Given the description of an element on the screen output the (x, y) to click on. 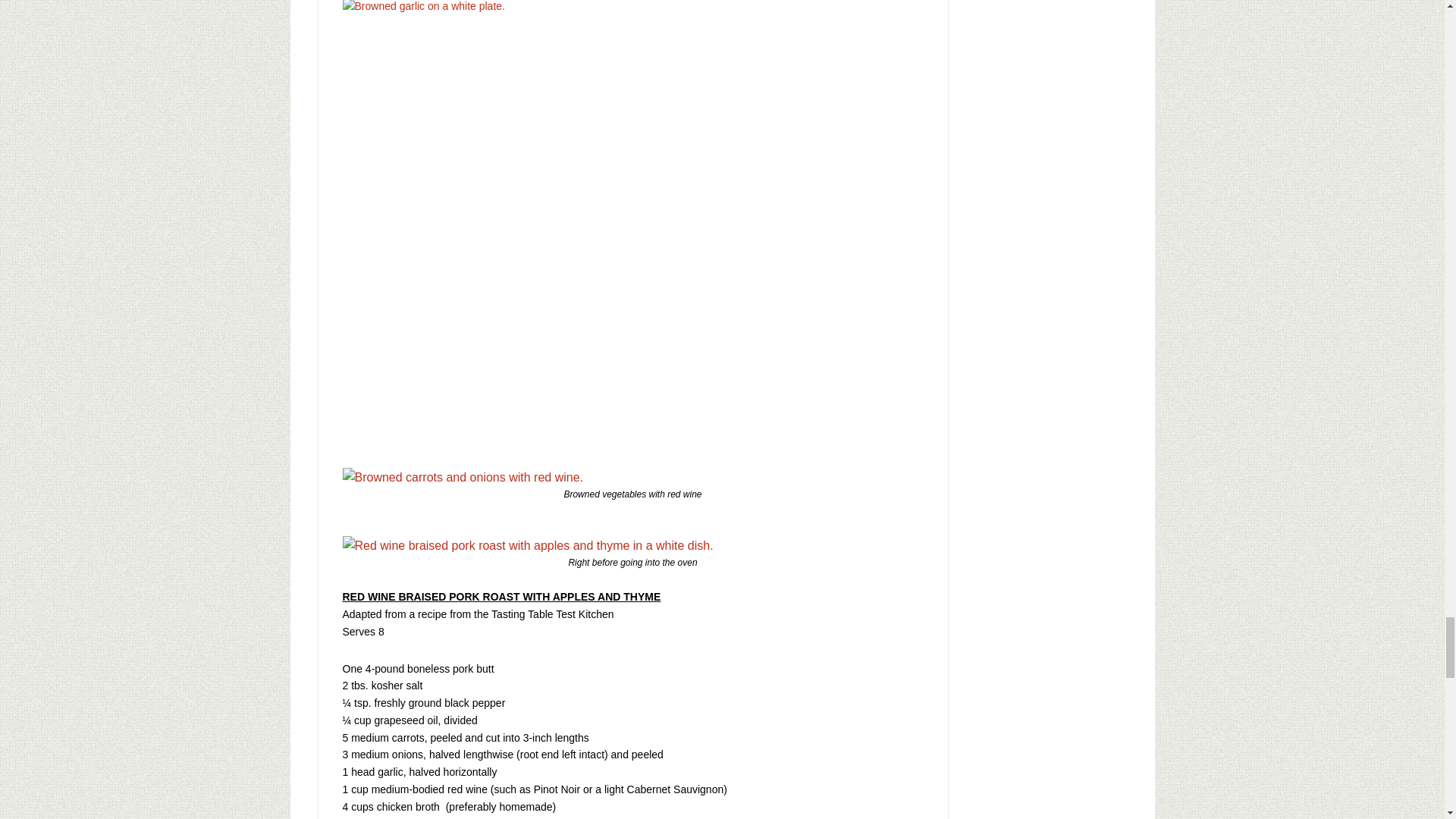
Pork roast before going into the oven (527, 546)
Red wine browned vegetables (462, 477)
